Given the description of an element on the screen output the (x, y) to click on. 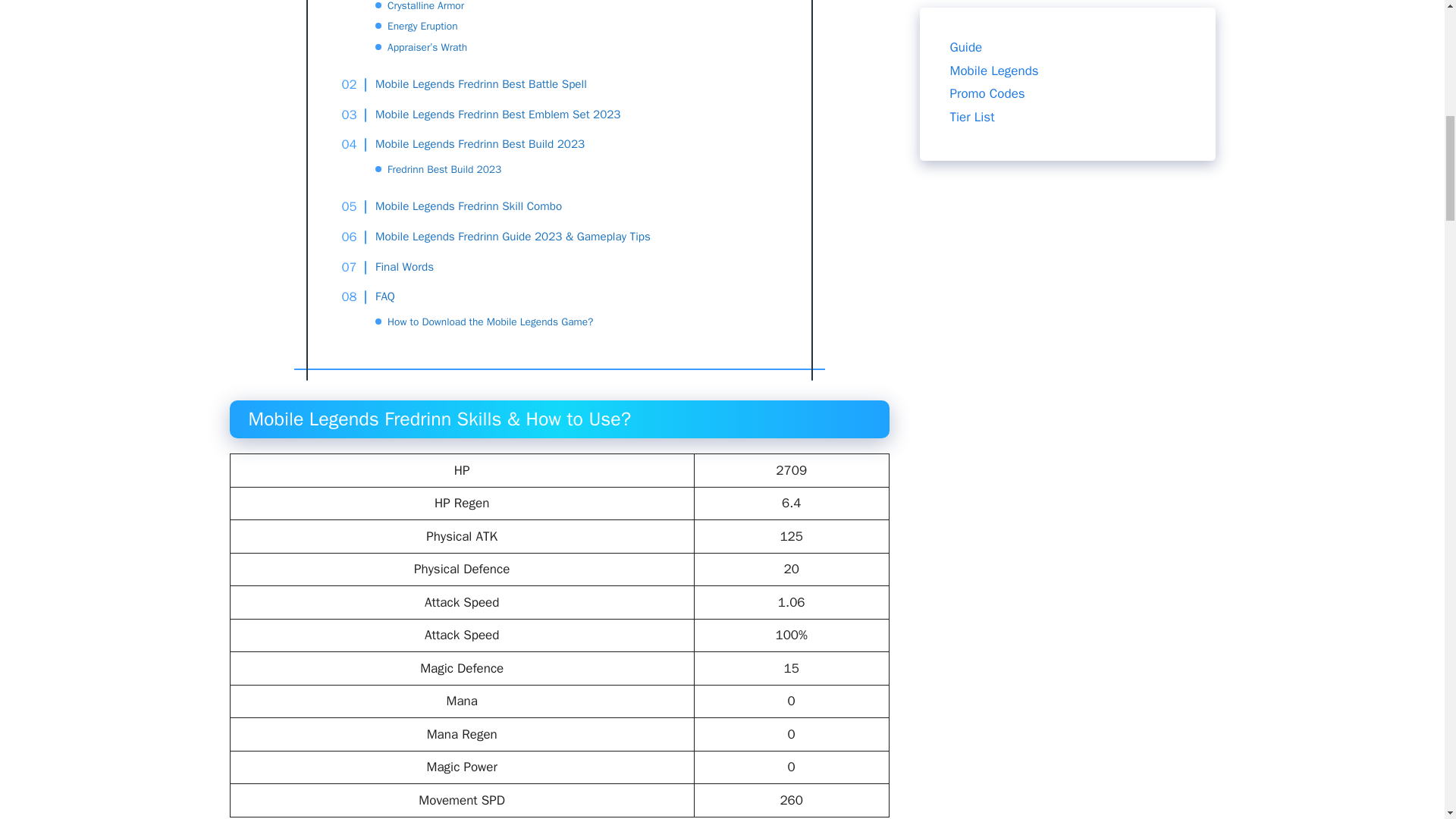
FAQ (376, 297)
How to Download the Mobile Legends Game? (489, 321)
Mobile Legends Fredrinn Best Emblem Set 2023 (489, 115)
Mobile Legends Fredrinn Skill Combo (460, 207)
Scroll back to top (1406, 720)
Crystalline Armor (425, 6)
Mobile Legends Fredrinn Best Build 2023 (471, 144)
Mobile Legends Fredrinn Best Battle Spell (472, 85)
Fredrinn Best Build 2023 (443, 169)
Final Words (395, 267)
